Given the description of an element on the screen output the (x, y) to click on. 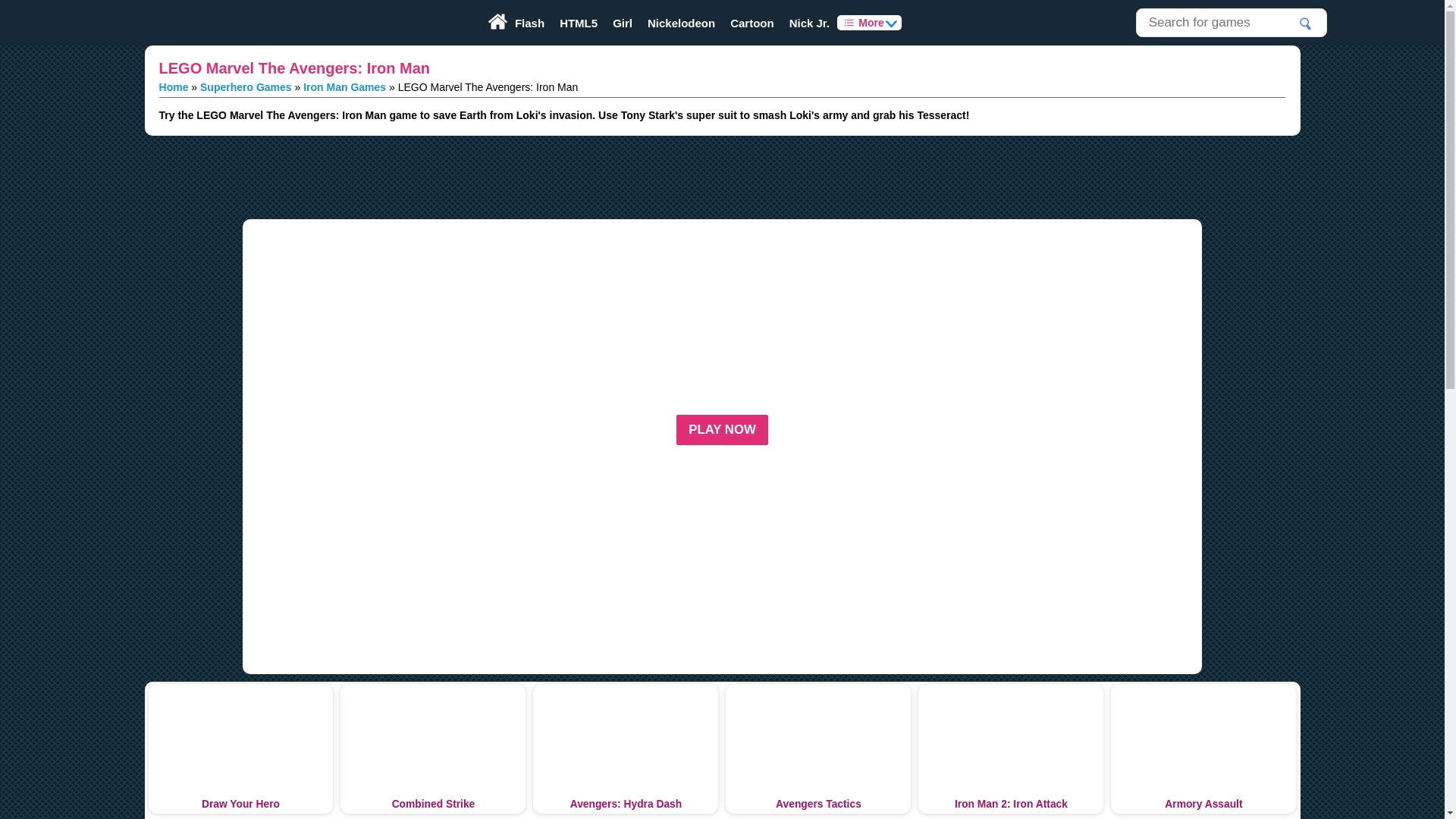
Home (173, 87)
Search (1305, 24)
Nick Jr. Games (809, 22)
Play Fun Browser Games (185, 22)
Search (1305, 24)
Search (1305, 24)
Nick Jr. (809, 22)
Flash (528, 22)
More (869, 22)
Cartoon (751, 22)
Girl Games (622, 22)
HTML5 (578, 22)
Iron Man Games (343, 87)
Nickelodeon Games (681, 22)
